Given the description of an element on the screen output the (x, y) to click on. 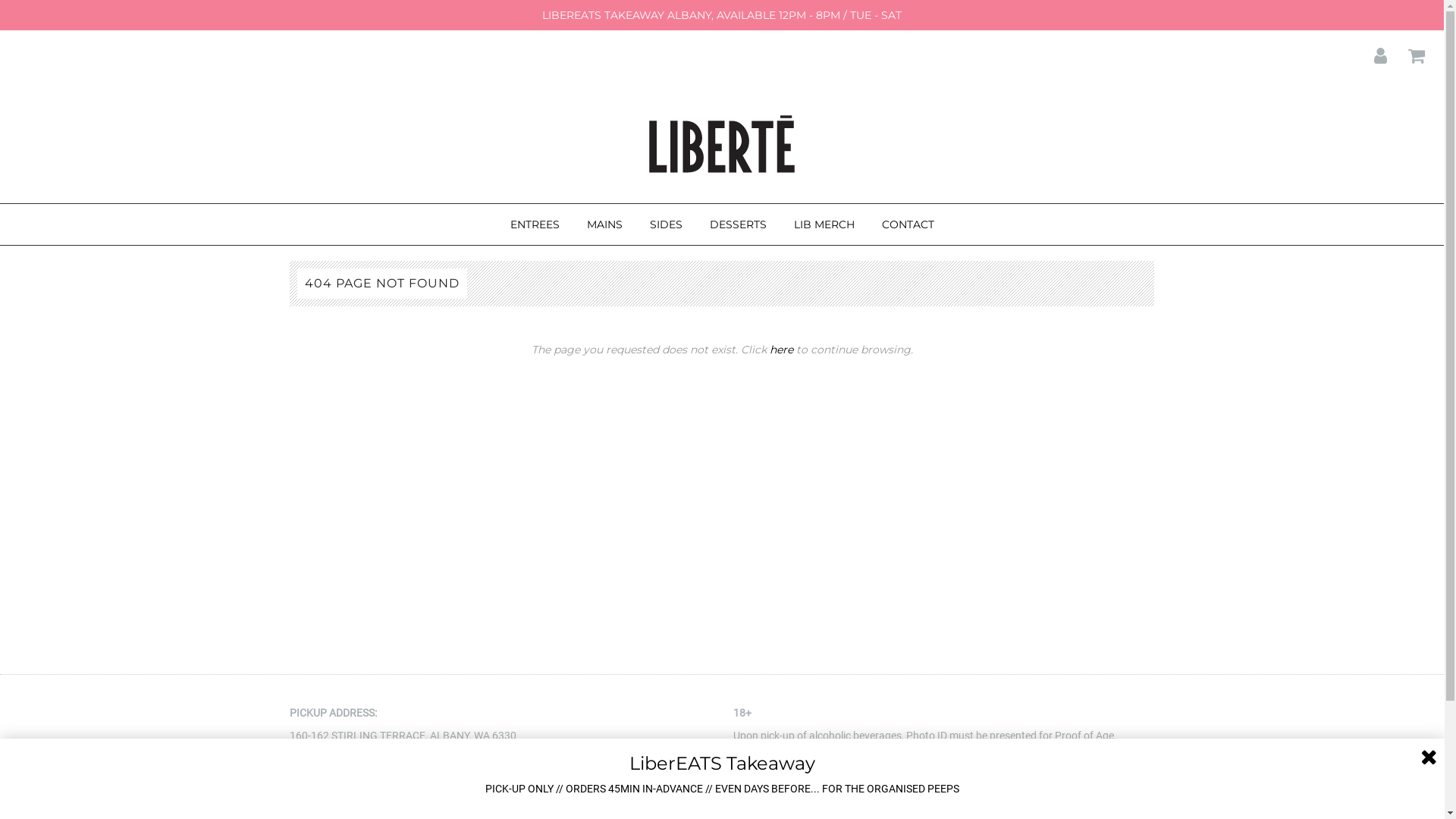
CONTACT Element type: text (907, 224)
here Element type: text (780, 349)
Your Order Element type: hover (1406, 50)
DESSERTS Element type: text (737, 224)
MAINS Element type: text (603, 224)
ENTREES Element type: text (534, 224)
Log in Element type: hover (1370, 50)
LIB MERCH Element type: text (824, 224)
SIDES Element type: text (665, 224)
